Given the description of an element on the screen output the (x, y) to click on. 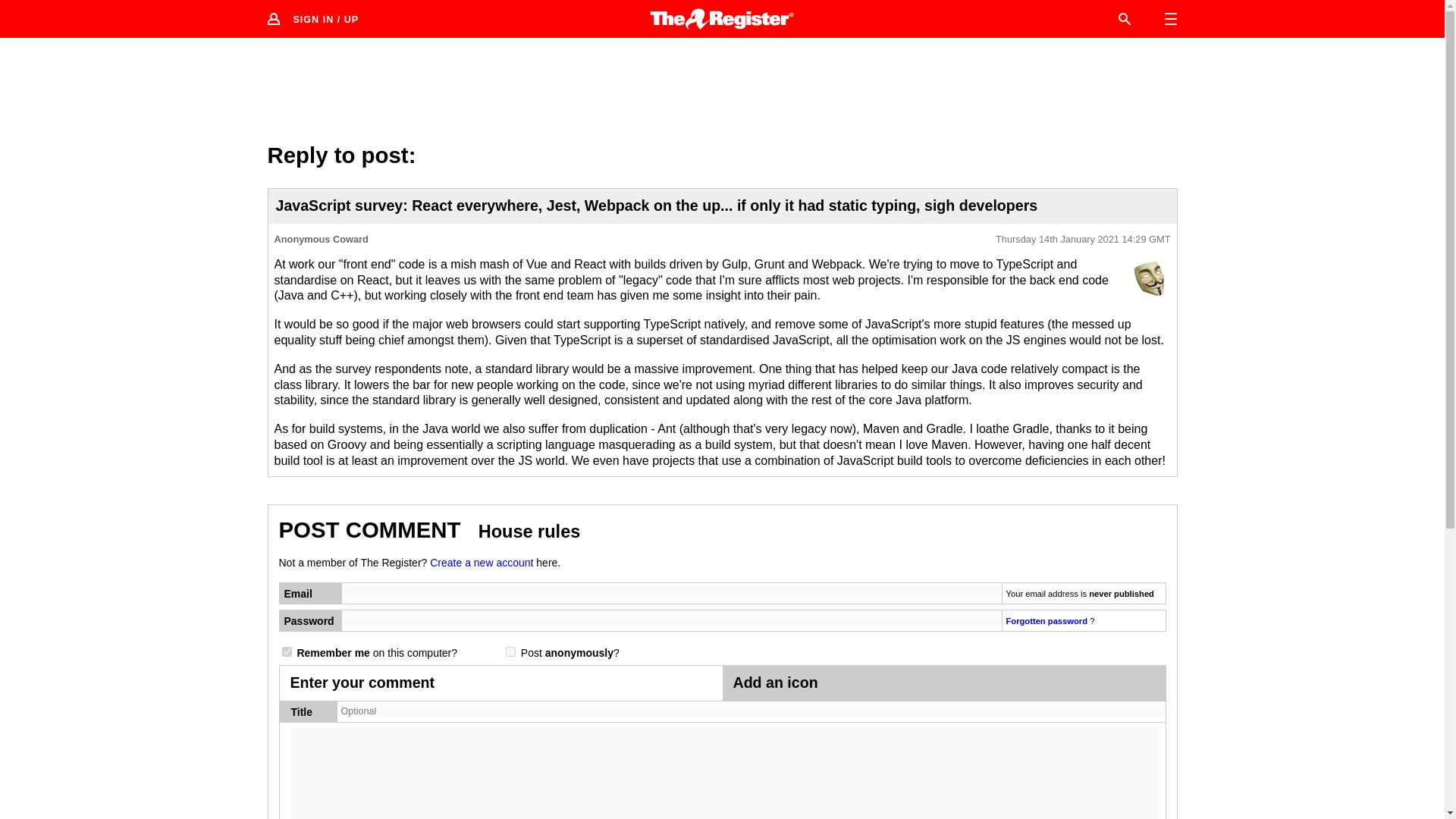
1 (510, 651)
1 (287, 651)
Posted by a snivelling, miserable coward (1149, 277)
Permalink to this post (1082, 239)
